Given the description of an element on the screen output the (x, y) to click on. 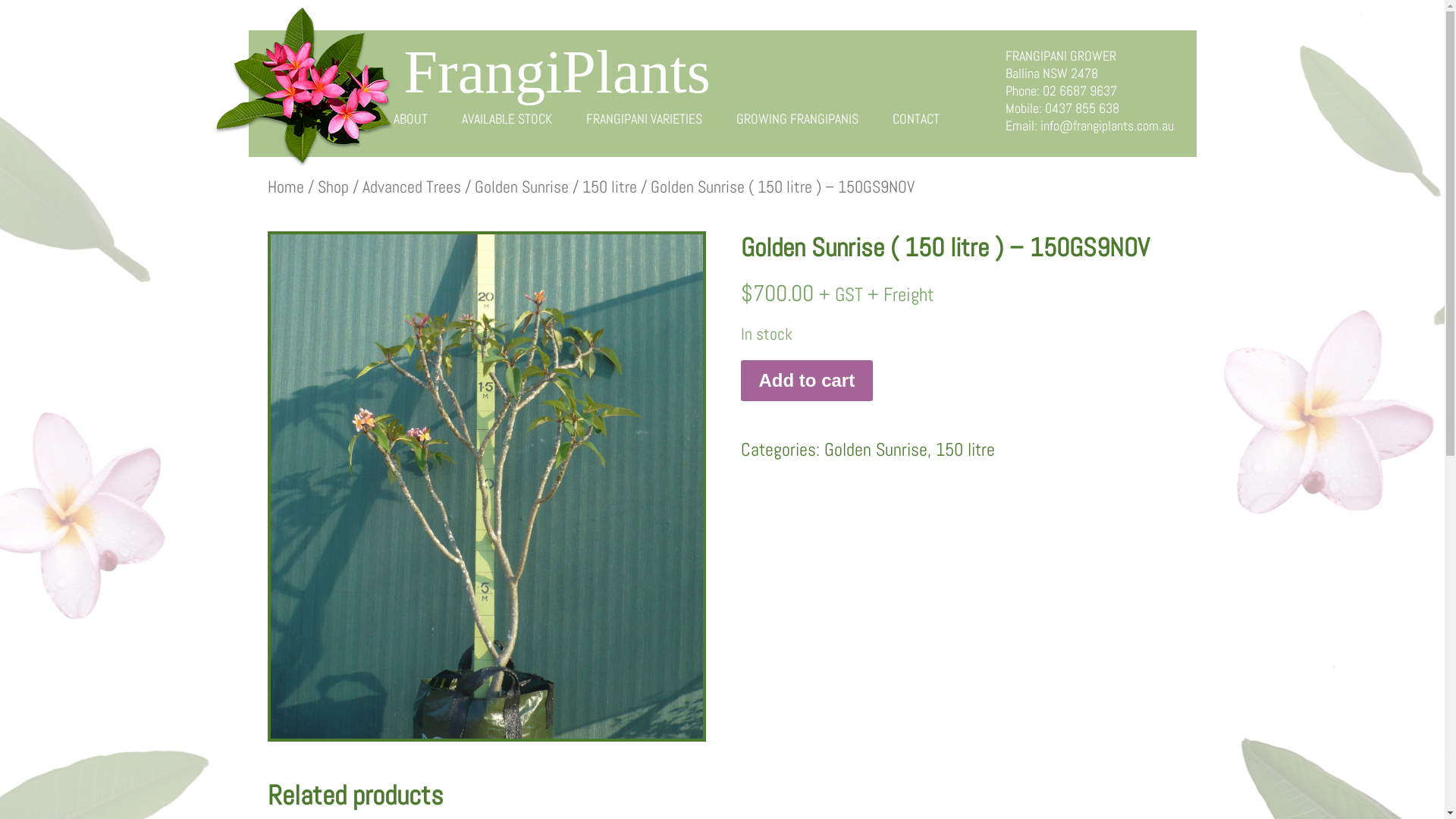
150 litre Element type: text (964, 449)
FrangiPlants Element type: text (556, 71)
Golden Sunrise Element type: text (874, 449)
ABOUT Element type: text (409, 118)
Add to cart Element type: text (806, 380)
AVAILABLE STOCK Element type: text (506, 118)
GROWING FRANGIPANIS Element type: text (796, 118)
Home Element type: text (284, 186)
150 litre Element type: text (609, 186)
info@frangiplants.com.au Element type: text (1106, 125)
CONTACT Element type: text (914, 118)
FrangiPlants - Frangipani specialists Element type: hover (303, 87)
150GS9NOV Element type: hover (485, 486)
02 6687 9637 Element type: text (1078, 90)
FRANGIPANI VARIETIES Element type: text (643, 118)
Shop Element type: text (332, 186)
Golden Sunrise Element type: text (521, 186)
HOME Element type: text (342, 118)
Advanced Trees Element type: text (411, 186)
